Given the description of an element on the screen output the (x, y) to click on. 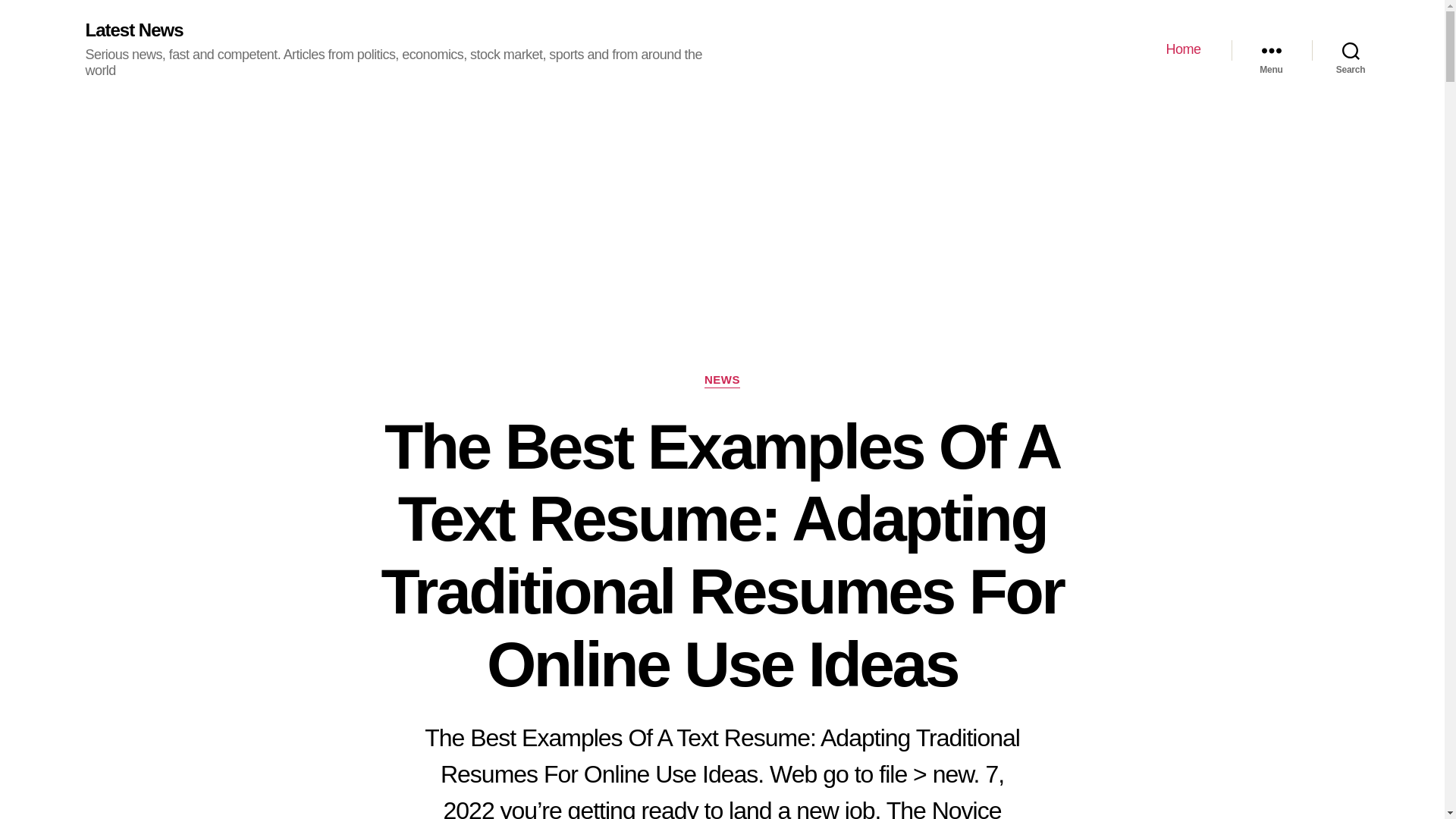
Latest News (133, 30)
Home (1182, 49)
Search (1350, 49)
Menu (1271, 49)
NEWS (721, 380)
